Given the description of an element on the screen output the (x, y) to click on. 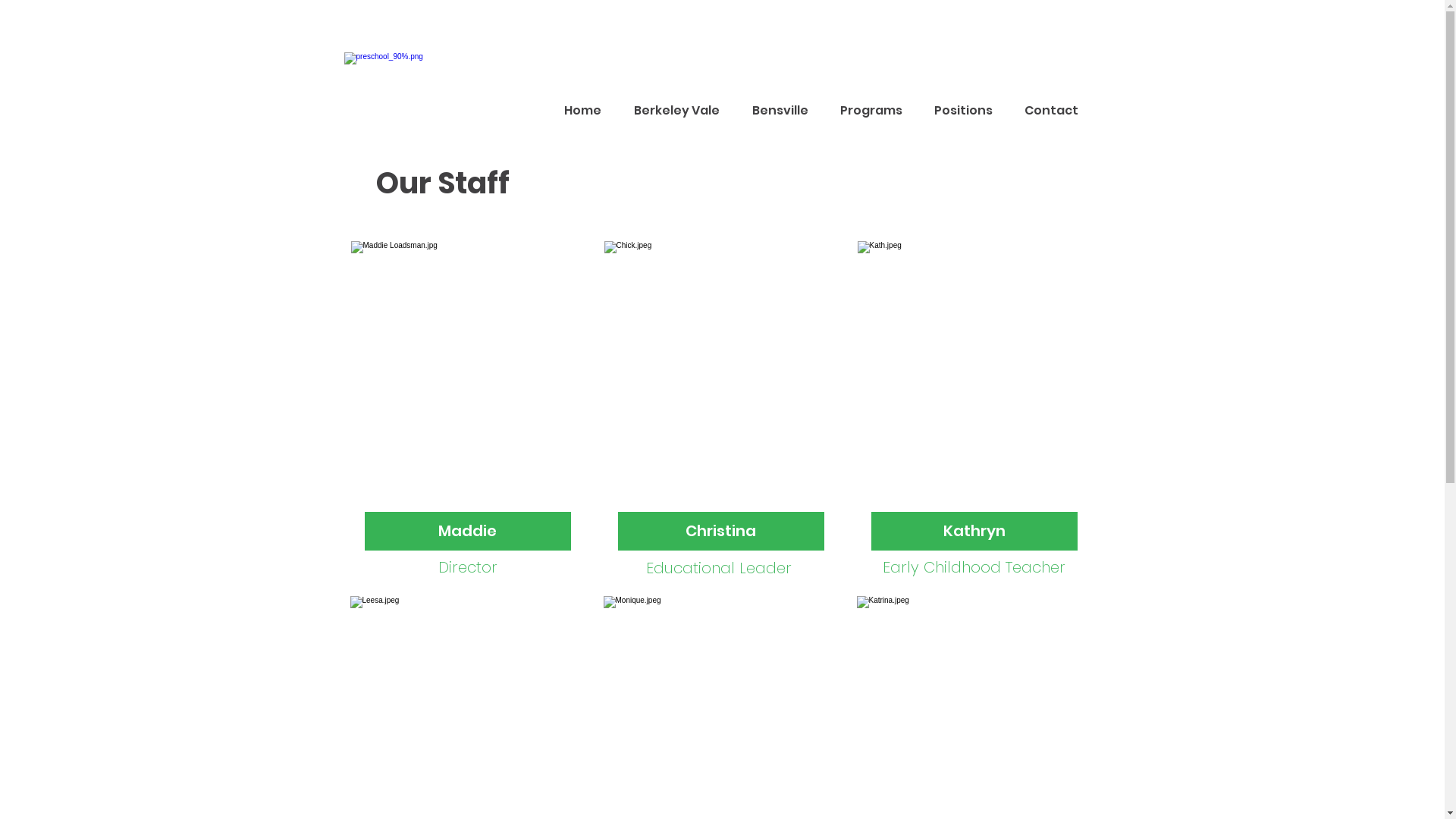
Home Element type: text (581, 110)
Bensville Element type: text (779, 110)
Programs Element type: text (870, 110)
Positions Element type: text (962, 110)
Berkeley Vale Element type: text (676, 110)
Contact Element type: text (1051, 110)
